Given the description of an element on the screen output the (x, y) to click on. 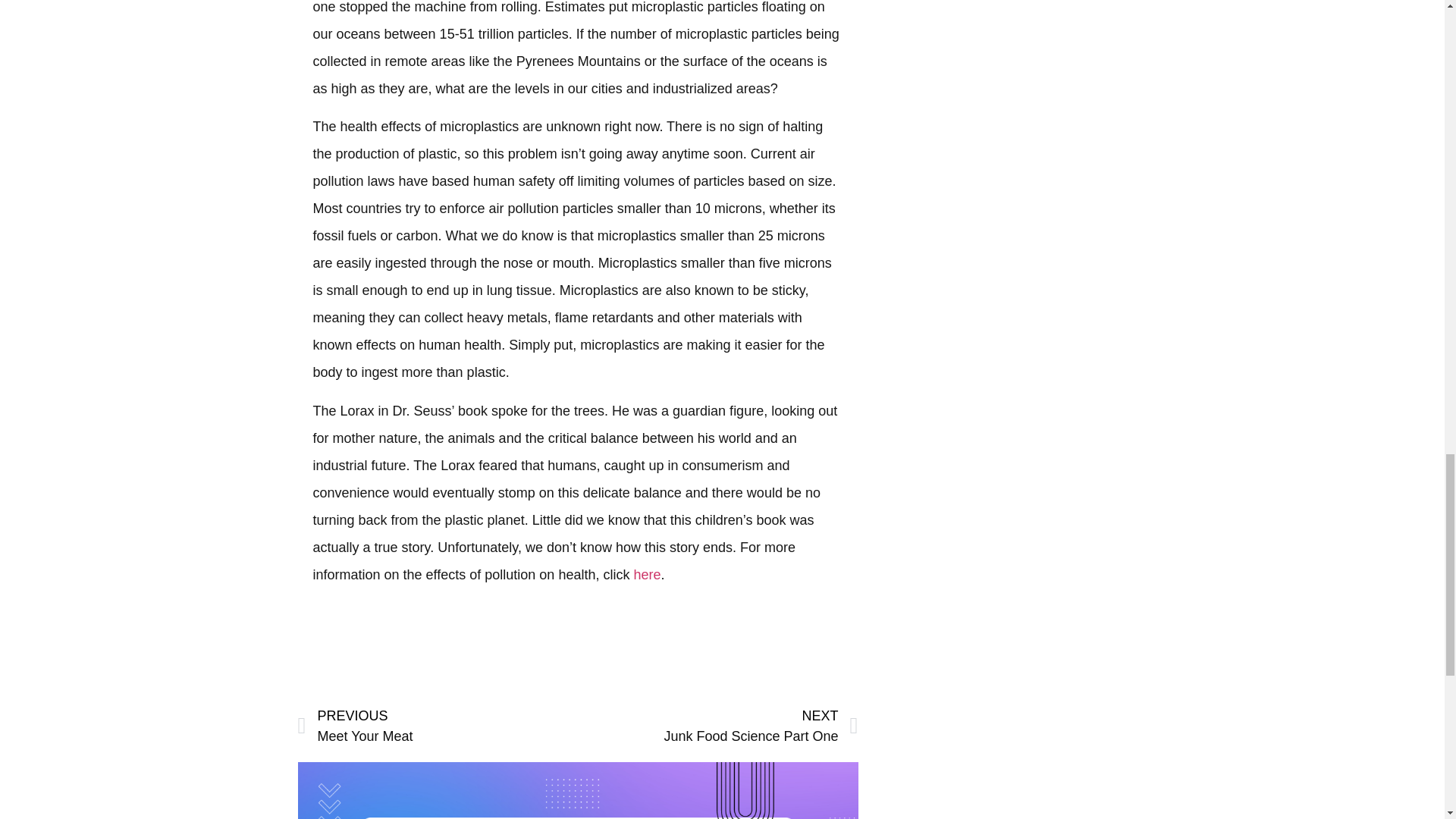
here (717, 725)
